Given the description of an element on the screen output the (x, y) to click on. 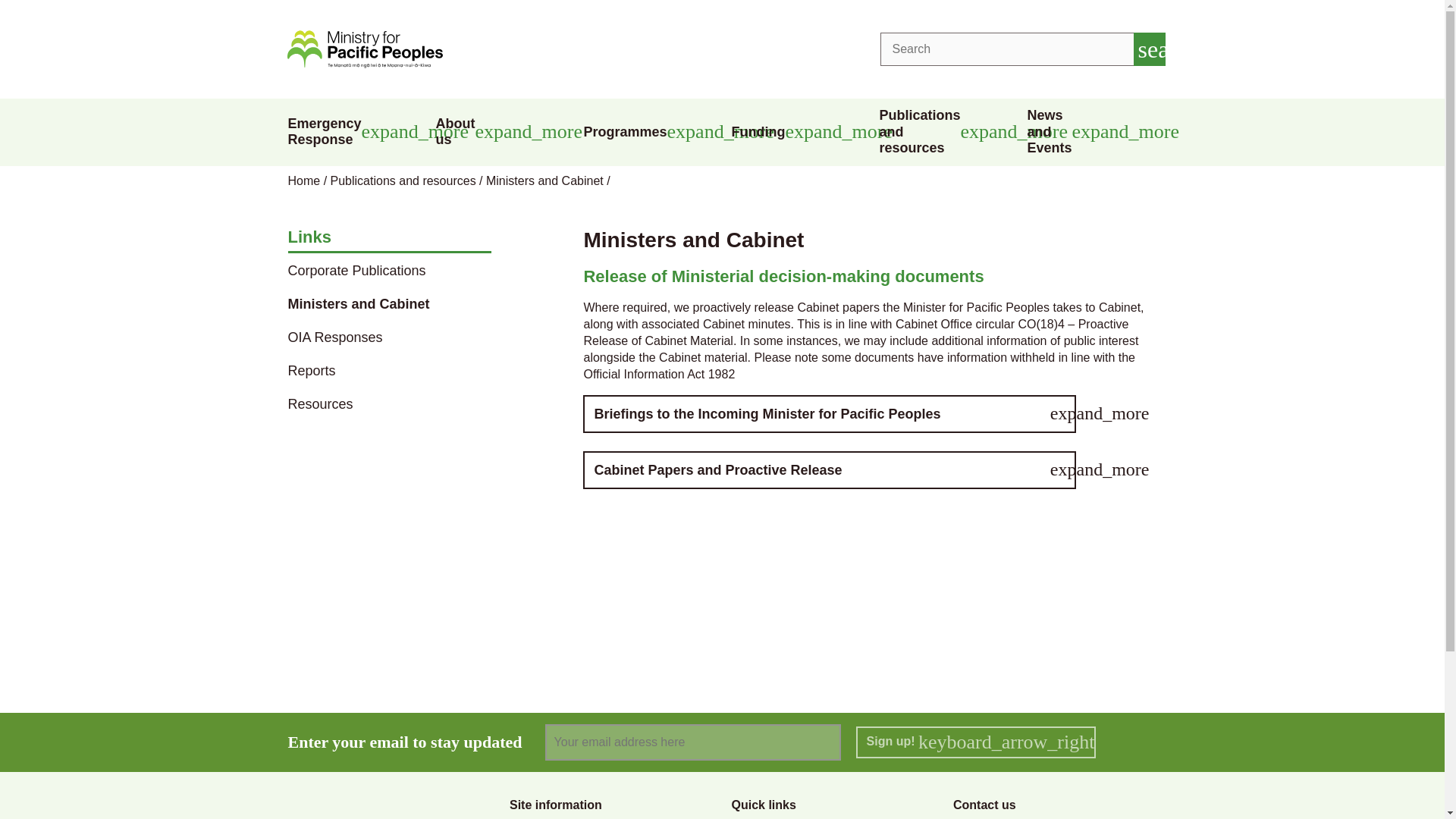
Emergency Response (352, 132)
Programmes (648, 132)
Search (1148, 49)
About us (499, 132)
Ministry for Pacific Peoples (364, 48)
